Given the description of an element on the screen output the (x, y) to click on. 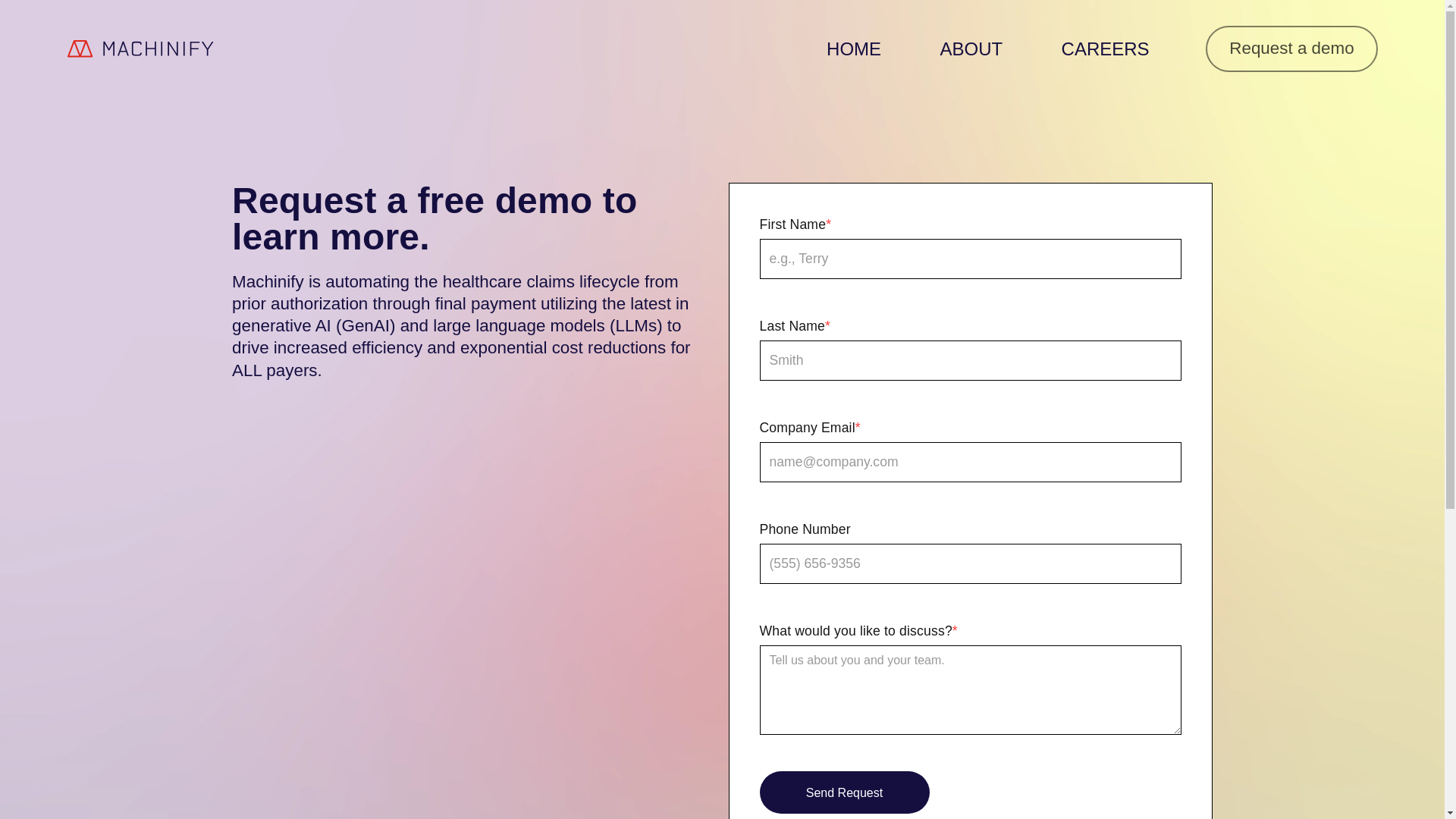
ABOUT (971, 49)
Send Request (845, 792)
Send Request (845, 792)
CAREERS (1104, 49)
Request a demo (1291, 48)
HOME (853, 49)
